Given the description of an element on the screen output the (x, y) to click on. 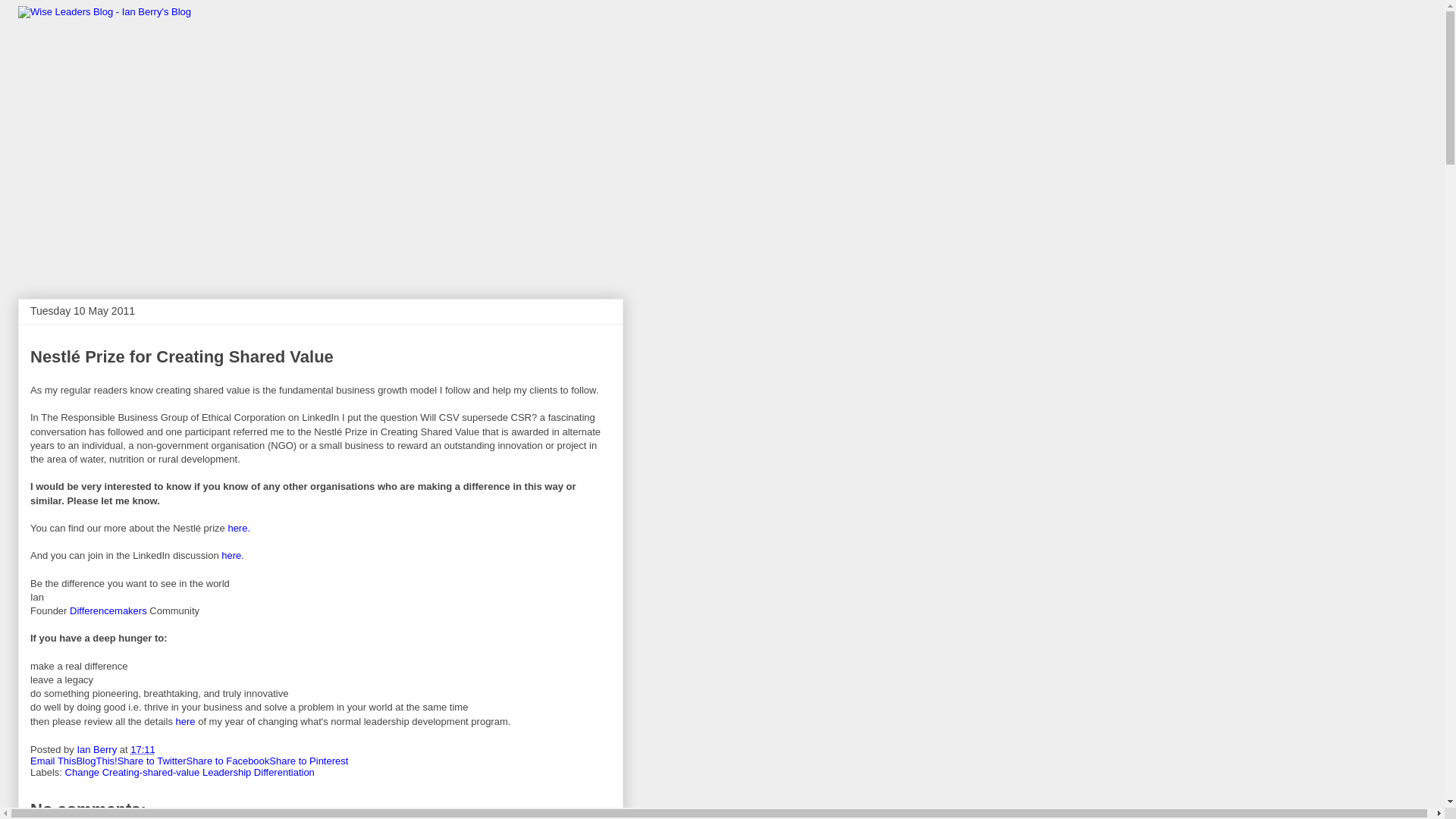
Share to Facebook (227, 760)
here. (238, 527)
Share to Pinterest (308, 760)
BlogThis! (95, 760)
Change Creating-shared-value Leadership Differentiation (189, 772)
BlogThis! (95, 760)
Share to Facebook (227, 760)
permanent link (143, 749)
17:11 (143, 749)
author profile (98, 749)
Share to Twitter (151, 760)
Ian Berry (98, 749)
Email Post (164, 749)
Differencemakers (108, 610)
Email This (52, 760)
